Given the description of an element on the screen output the (x, y) to click on. 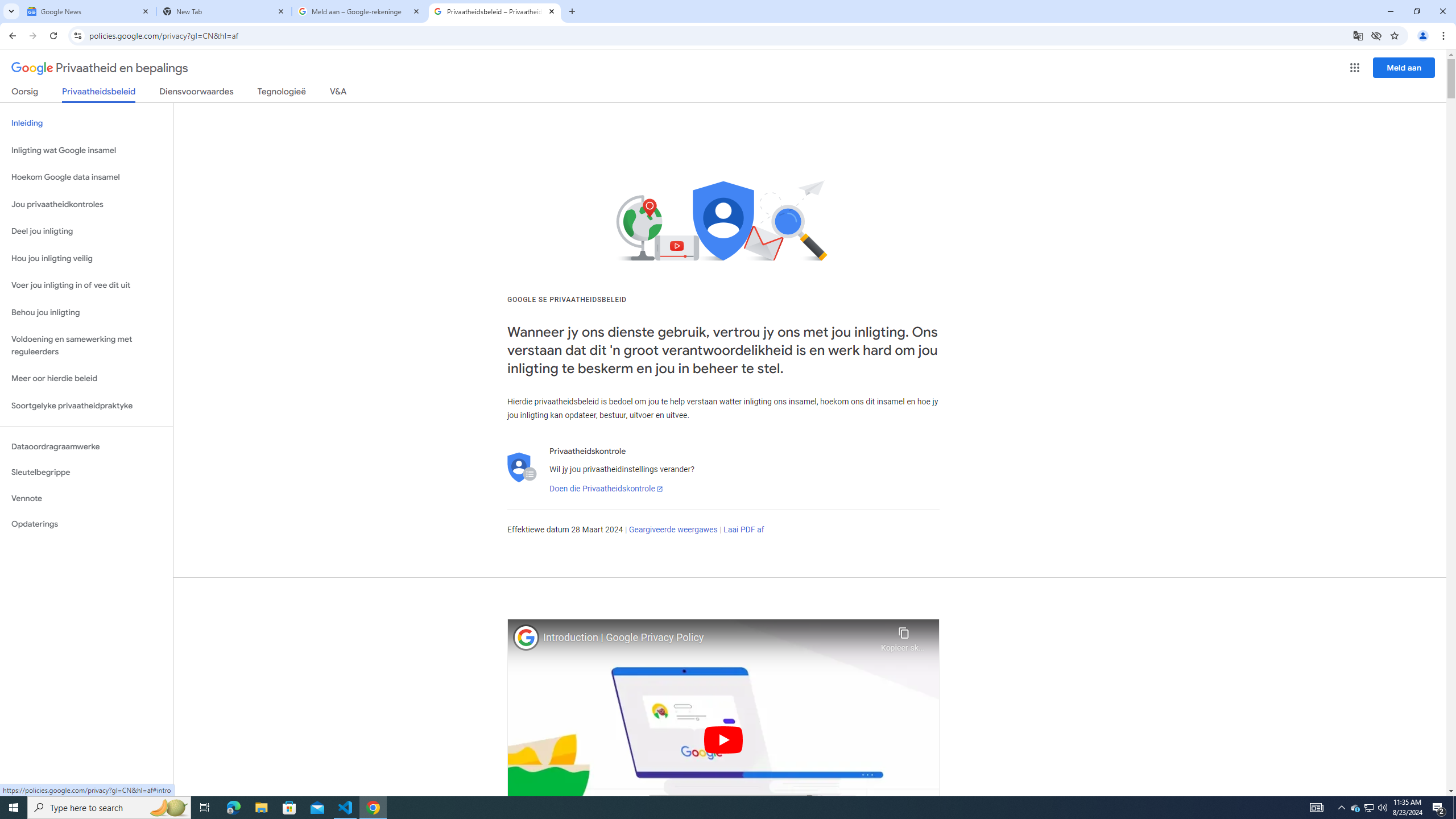
Privaatheid en bepalings (99, 68)
Laai PDF af (743, 529)
Inleiding (86, 122)
Jou privaatheidkontroles (86, 204)
Voldoening en samewerking met reguleerders (86, 345)
New Tab (224, 11)
Sleutelbegrippe (86, 472)
Hou jou inligting veilig (86, 258)
Soortgelyke privaatheidpraktyke (86, 405)
Translate this page (1358, 35)
